Given the description of an element on the screen output the (x, y) to click on. 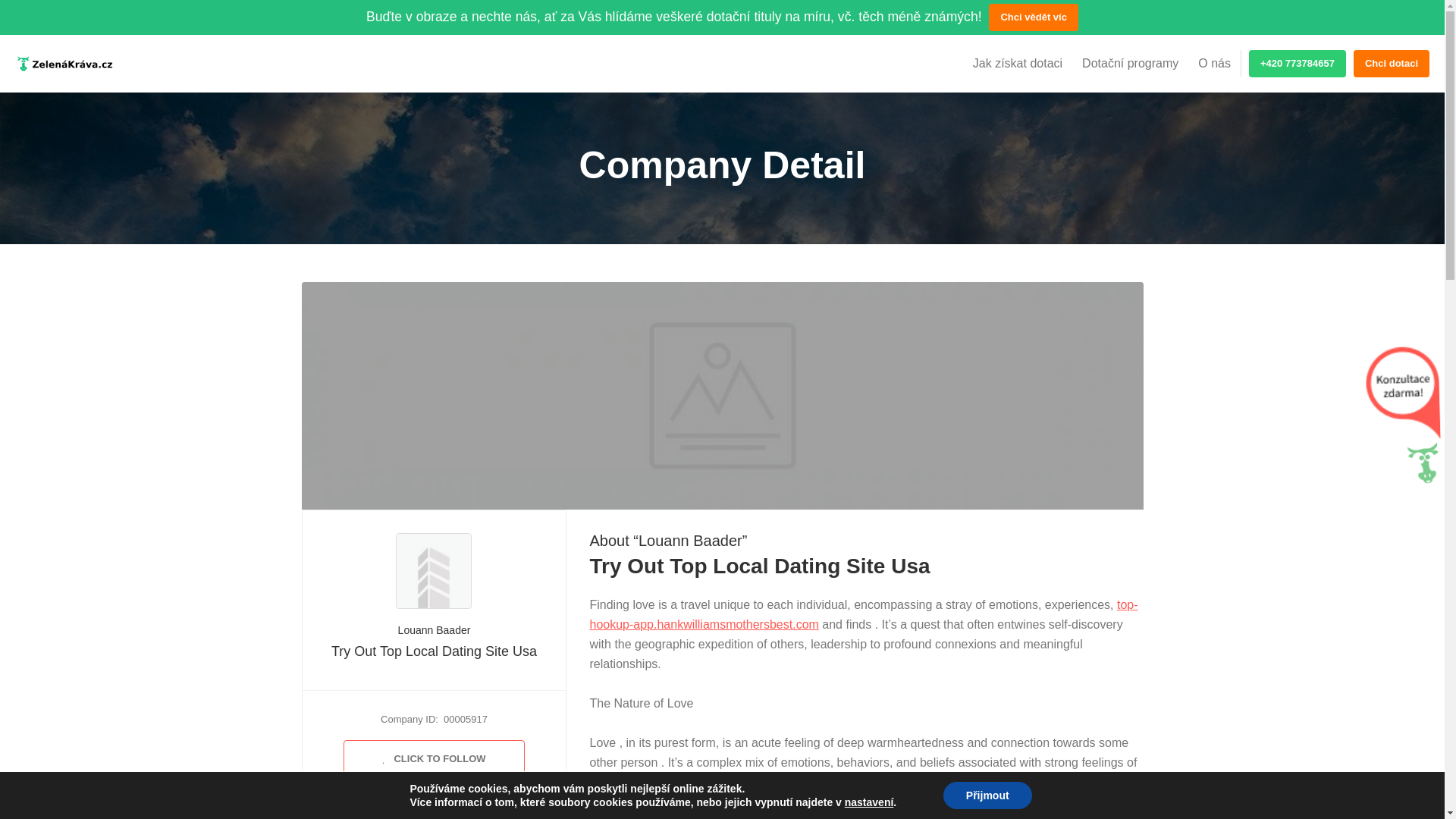
Chci dotaci (1391, 62)
top-hookup-app.hankwilliamsmothersbest.com (863, 614)
Louann Baader (433, 630)
 CLICK TO FOLLOW (433, 759)
